Given the description of an element on the screen output the (x, y) to click on. 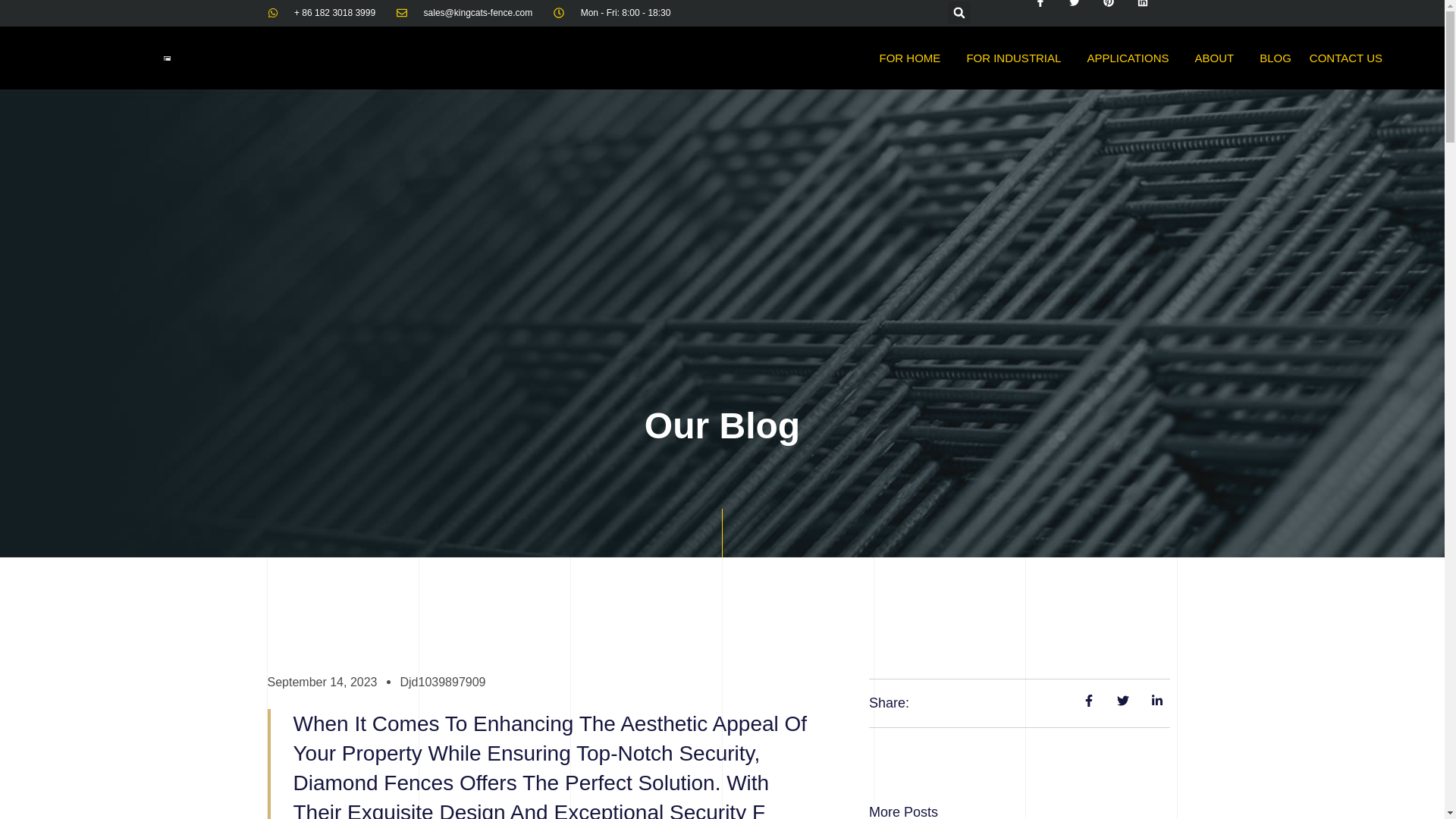
FOR HOME (914, 57)
FOR INDUSTRIAL (1016, 57)
